Given the description of an element on the screen output the (x, y) to click on. 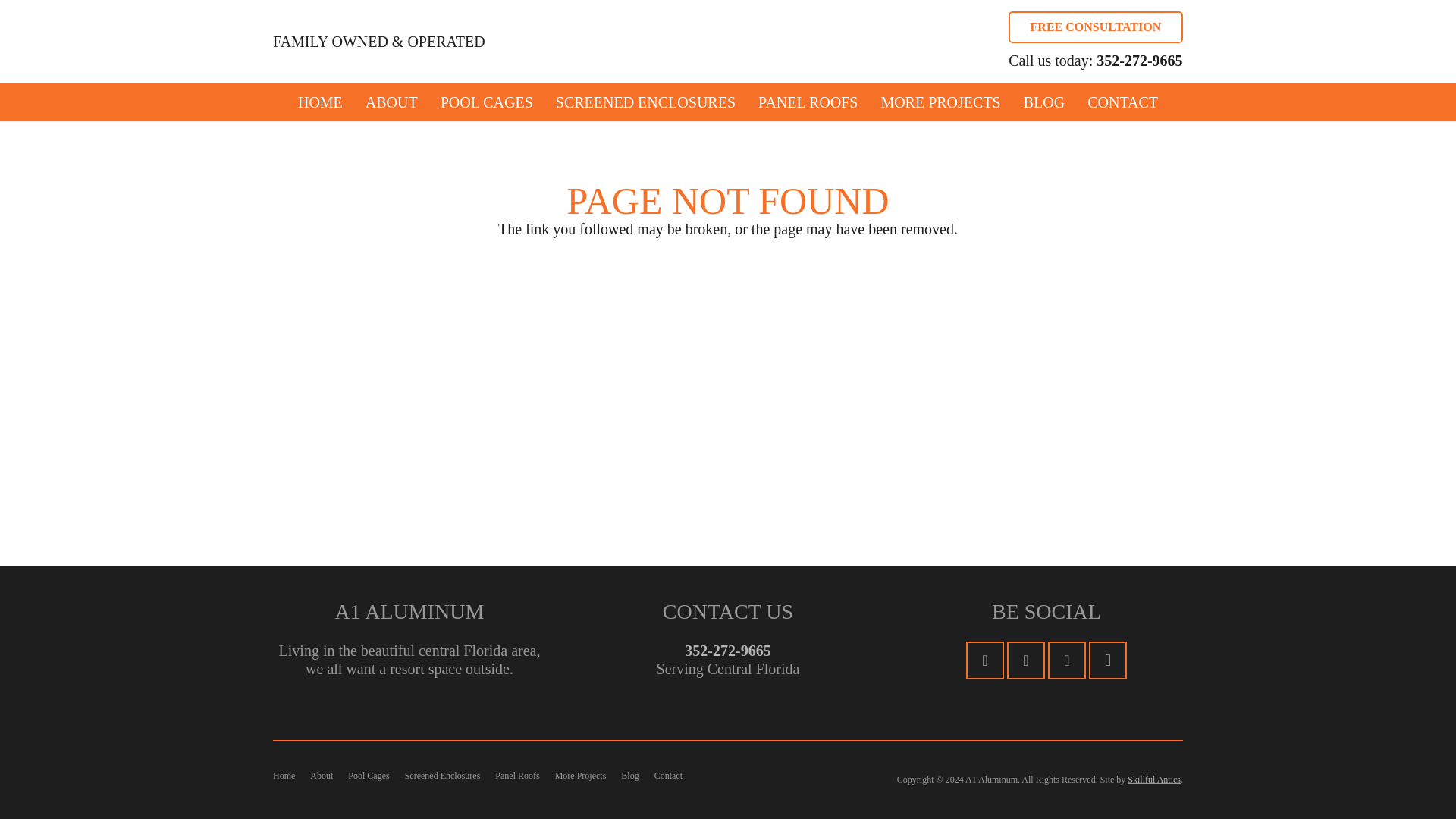
More Projects (580, 775)
ABOUT (391, 102)
Home (284, 775)
352-272-9665 (727, 650)
Skillful Antics (1153, 778)
PANEL ROOFS (807, 102)
Screened Enclosures (442, 775)
Google (1026, 660)
YouTube (1067, 660)
Panel Roofs (516, 775)
